Given the description of an element on the screen output the (x, y) to click on. 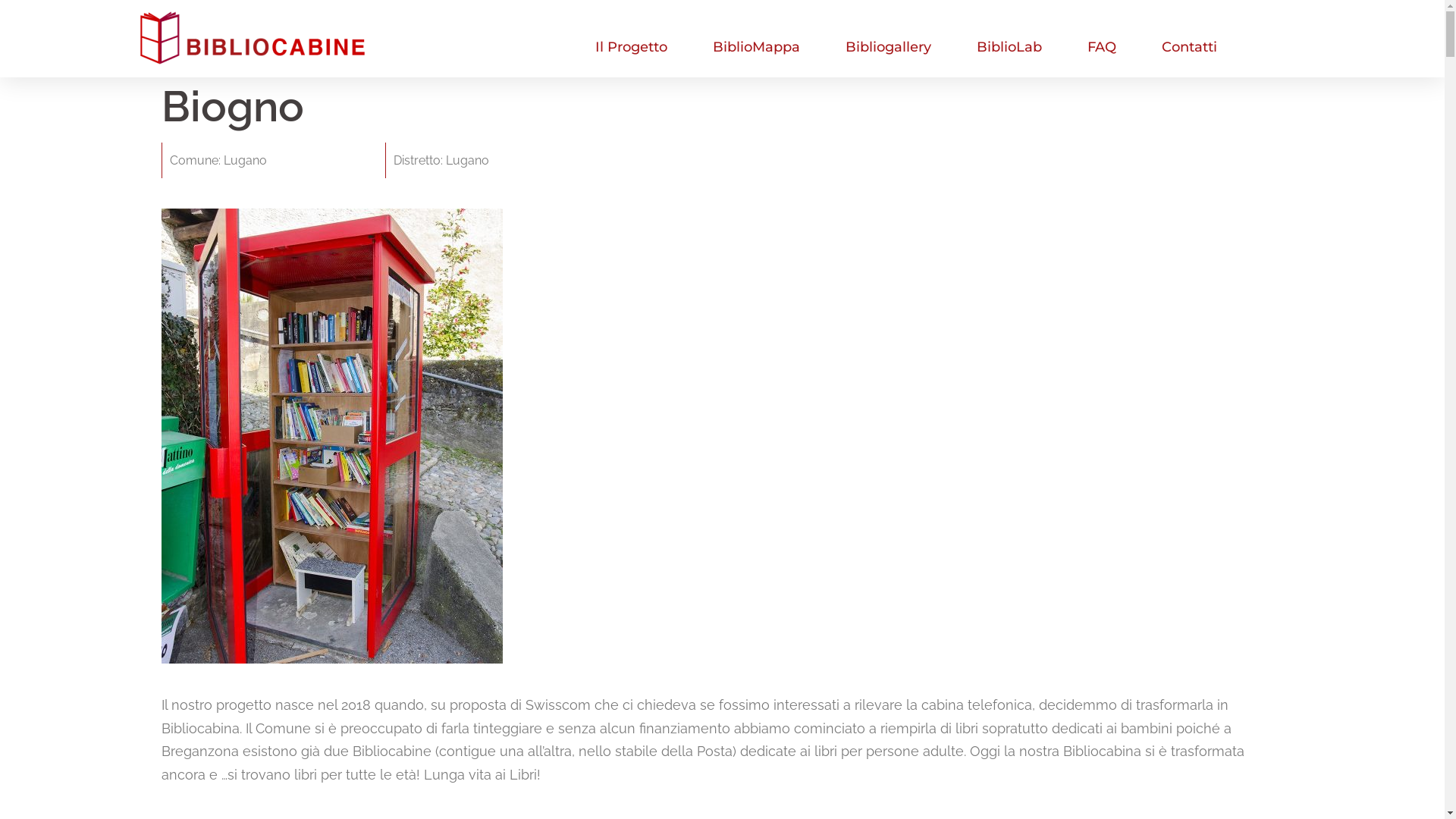
BiblioLab Element type: text (1008, 46)
FAQ Element type: text (1101, 46)
Breganzona Biogno01 Element type: hover (331, 435)
Bibliogallery Element type: text (888, 46)
Contatti Element type: text (1189, 46)
Il Progetto Element type: text (631, 46)
BiblioMappa Element type: text (756, 46)
